Given the description of an element on the screen output the (x, y) to click on. 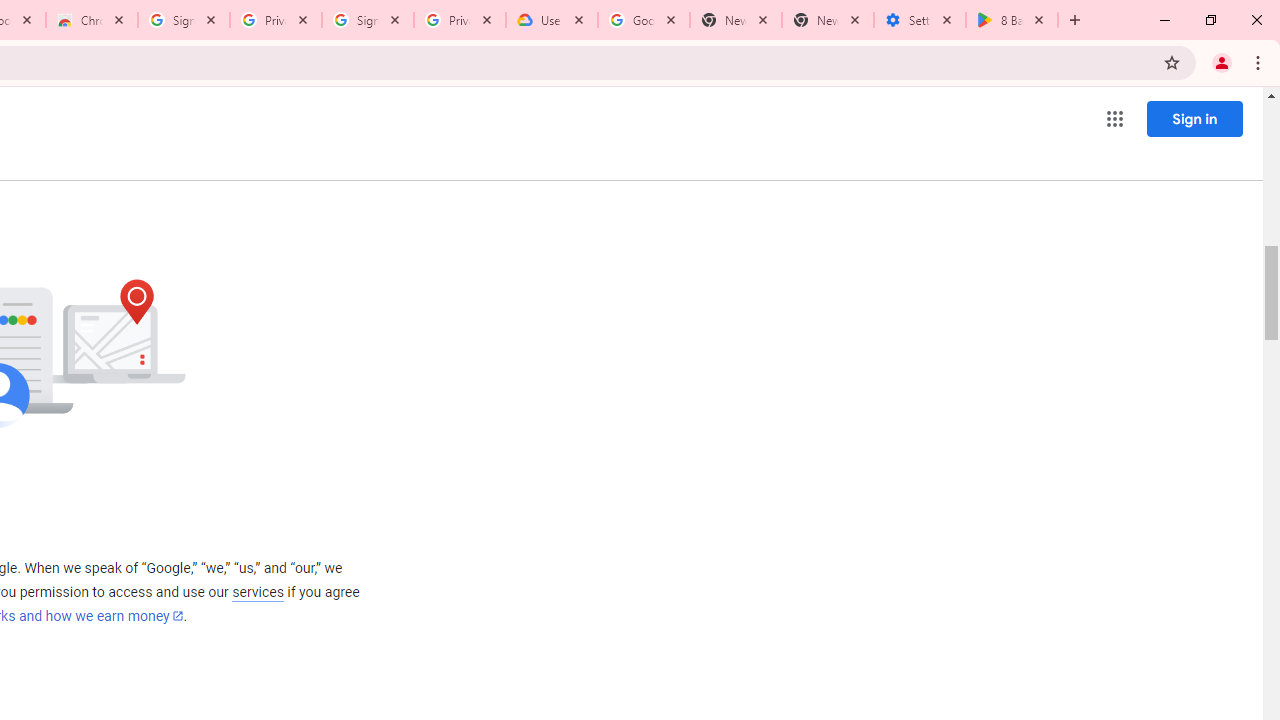
Settings - System (920, 20)
Chrome Web Store - Color themes by Chrome (92, 20)
